Given the description of an element on the screen output the (x, y) to click on. 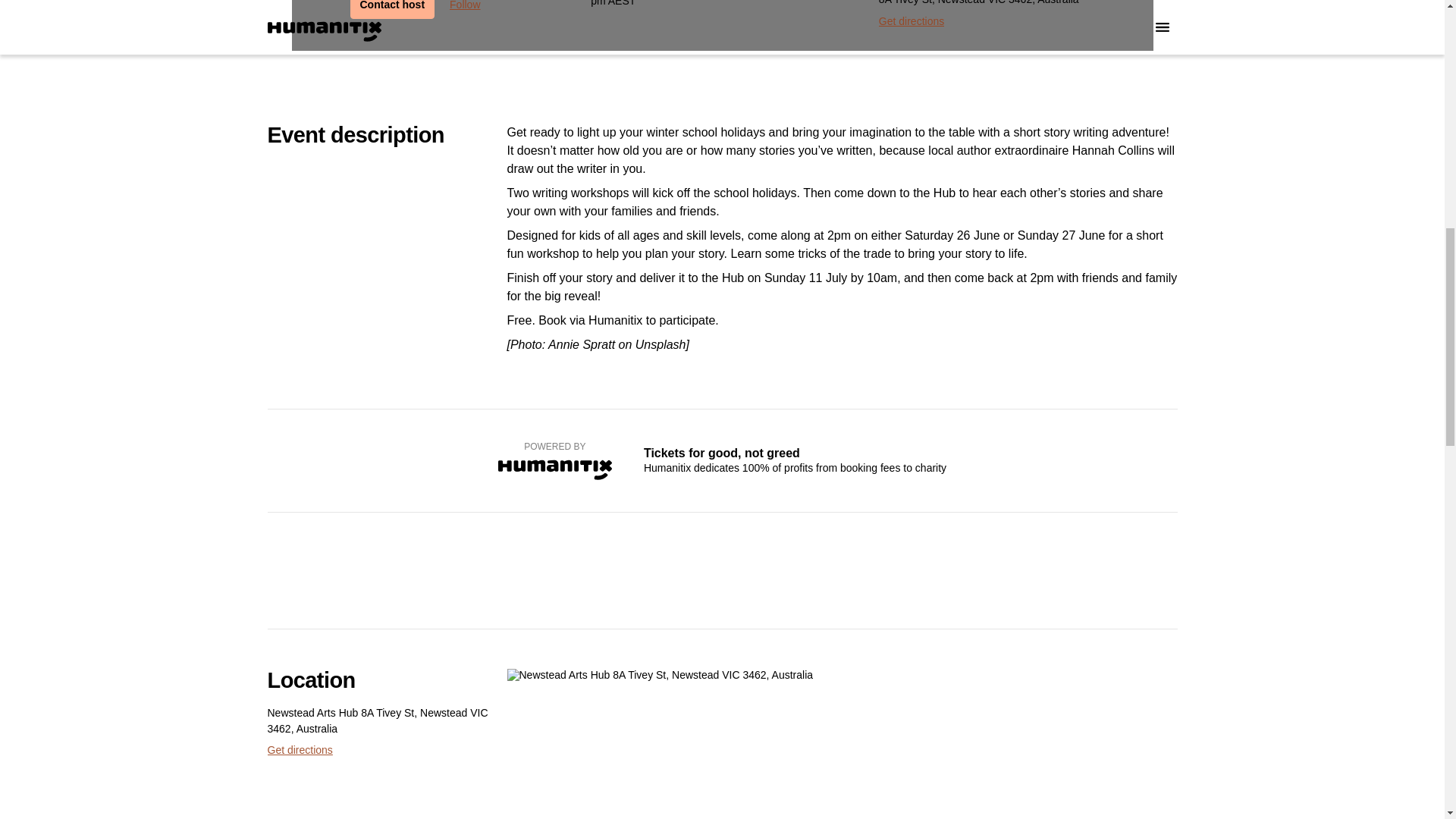
Get directions (911, 21)
Get directions (298, 750)
Follow (465, 9)
